Given the description of an element on the screen output the (x, y) to click on. 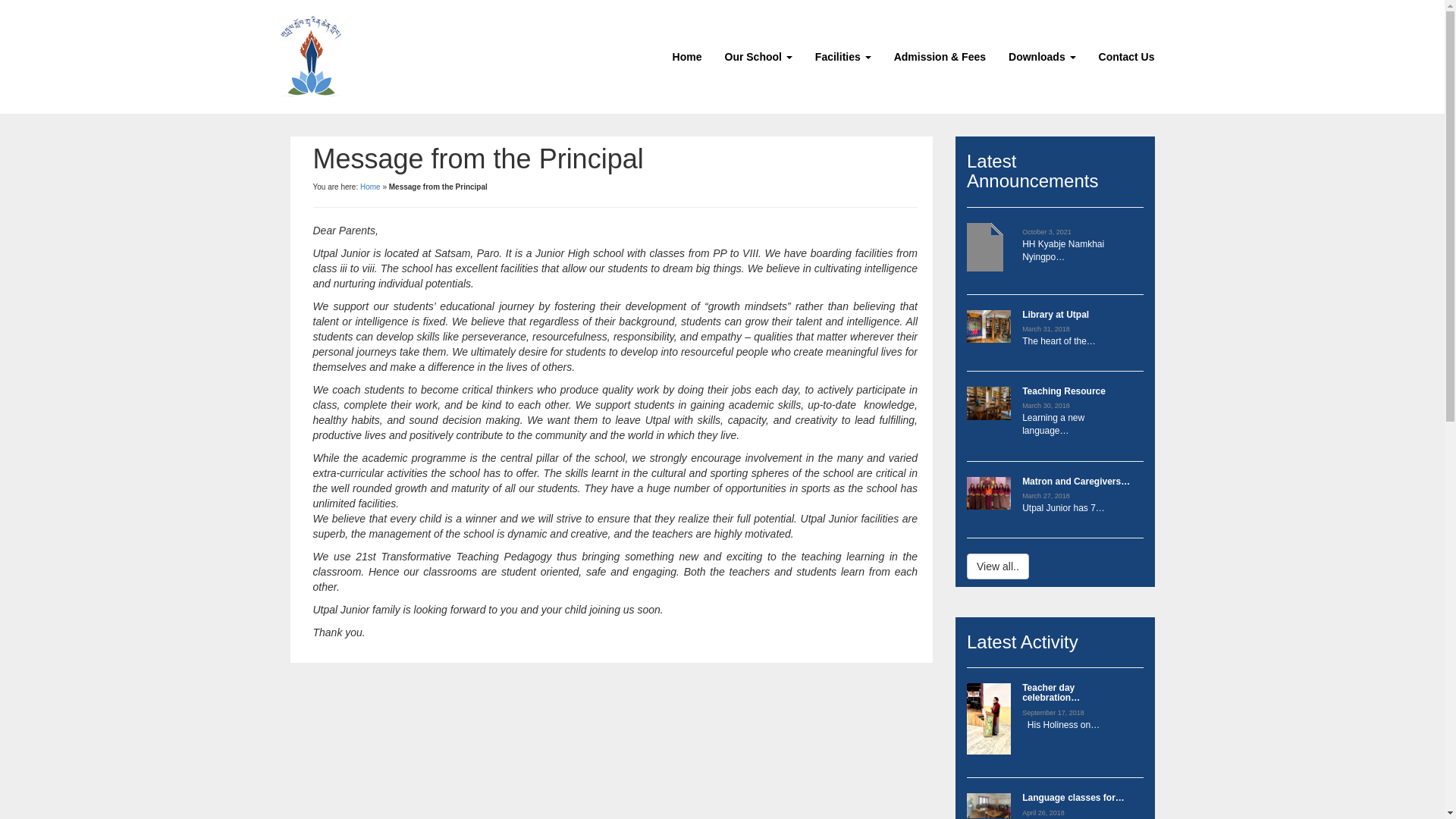
Admission & Fees Element type: text (939, 56)
Library at Utpal Element type: text (1055, 314)
Contact Us Element type: text (1126, 56)
Teaching Resource Element type: text (1063, 390)
Downloads Element type: text (1042, 56)
Home Element type: text (370, 186)
Utpal Junior Element type: hover (310, 55)
View all.. Element type: text (997, 566)
Our School Element type: text (757, 56)
Facilities Element type: text (842, 56)
Home Element type: text (687, 56)
